Given the description of an element on the screen output the (x, y) to click on. 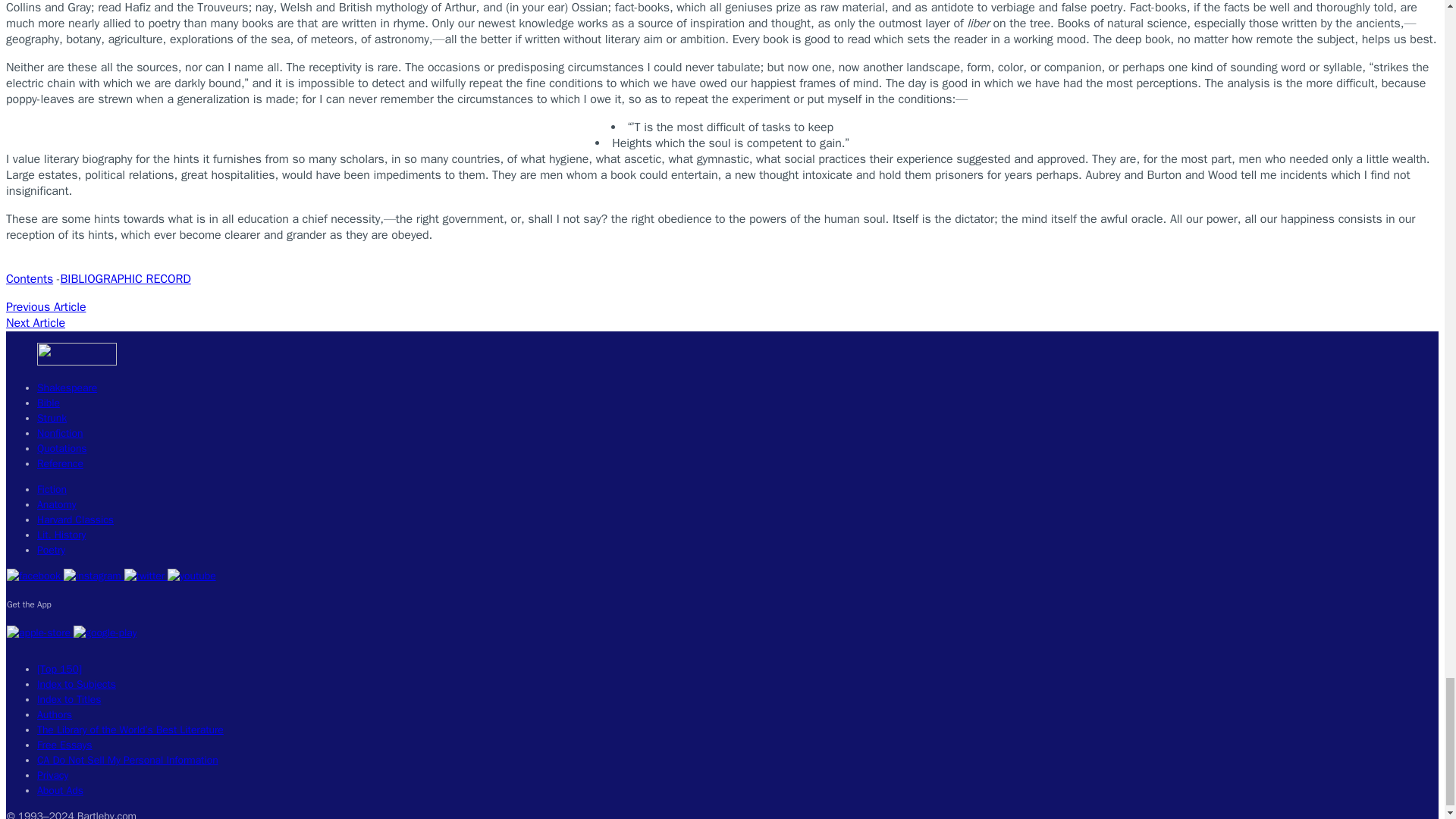
Previous Article (45, 306)
Quotations (62, 448)
Harvard Classics (75, 519)
BIBLIOGRAPHIC RECORD (125, 278)
Anatomy (57, 504)
Strunk (51, 418)
Reference (59, 463)
Fiction (51, 489)
Lit. History (61, 534)
Nonfiction (59, 432)
Bible (48, 402)
Contents (28, 278)
Shakespeare (67, 387)
Poetry (51, 549)
Next Article (35, 322)
